Given the description of an element on the screen output the (x, y) to click on. 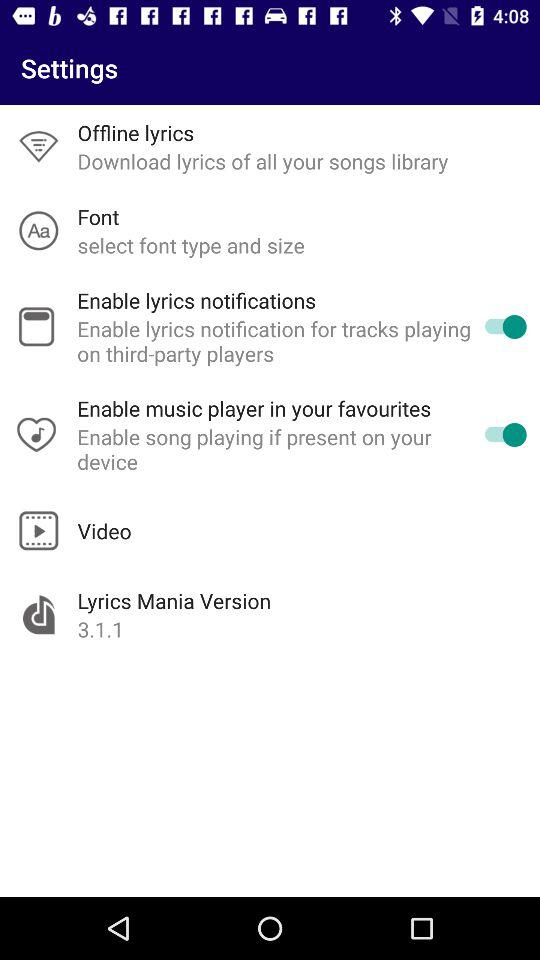
flip to the select font type icon (190, 244)
